Given the description of an element on the screen output the (x, y) to click on. 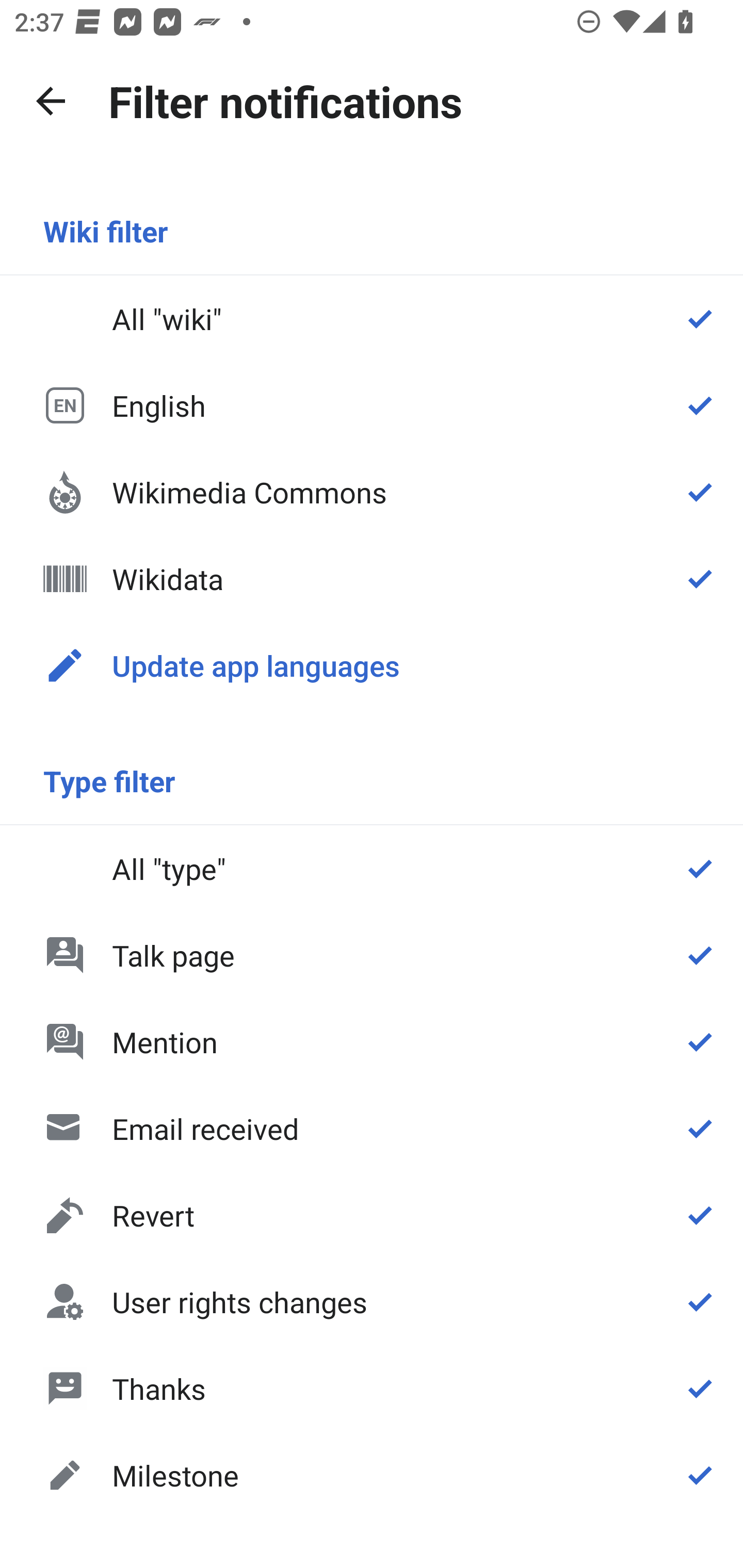
Navigate up (50, 101)
All "wiki" (371, 318)
EN English (371, 405)
Wikimedia Commons (371, 491)
Wikidata (371, 578)
Update app languages (371, 665)
All "type" (371, 868)
Talk page (371, 955)
Mention (371, 1041)
Email received (371, 1128)
Revert (371, 1215)
User rights changes (371, 1302)
Thanks (371, 1388)
Milestone (371, 1474)
